Given the description of an element on the screen output the (x, y) to click on. 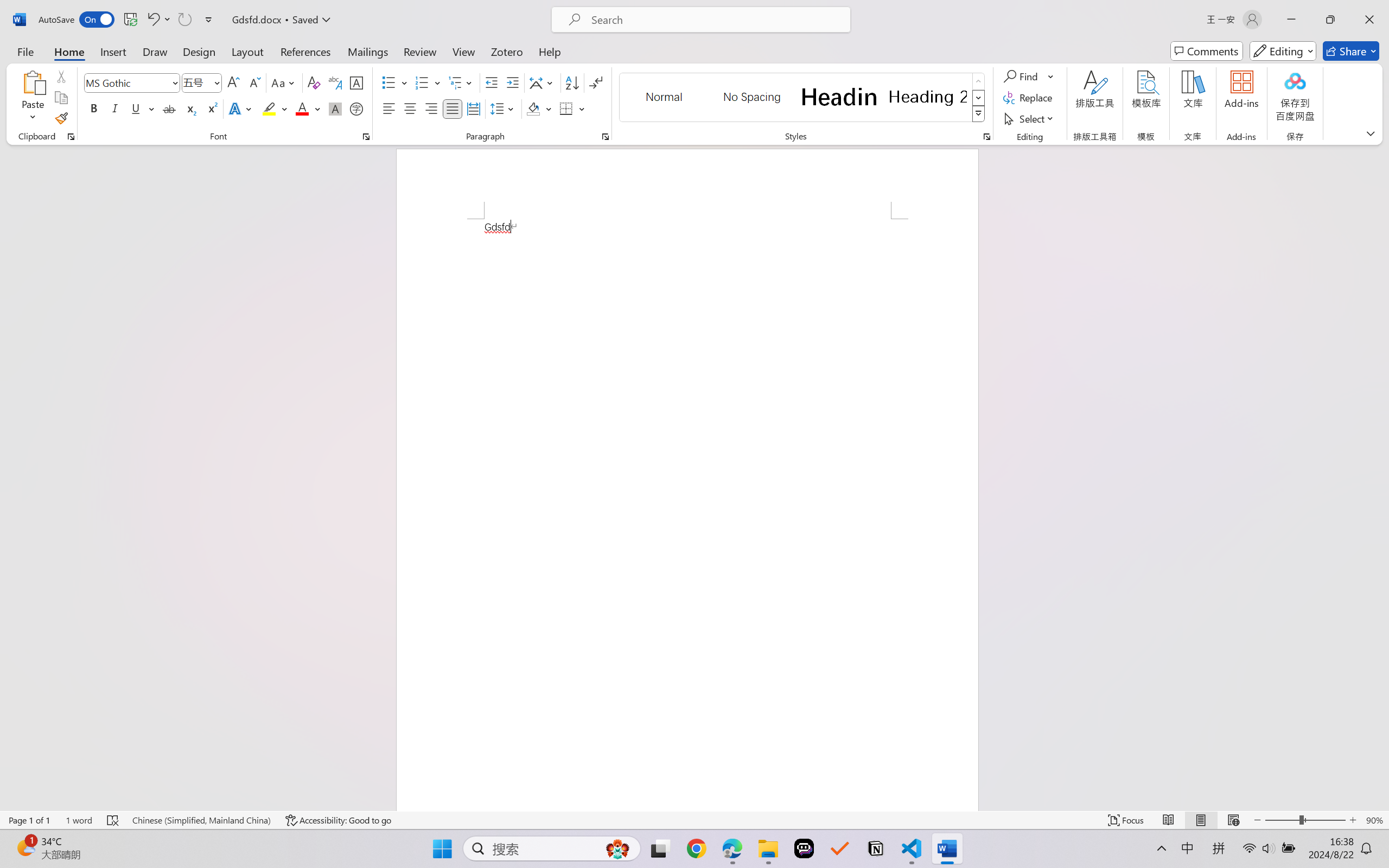
Spelling and Grammar Check Errors (113, 819)
Select (1030, 118)
Asian Layout (542, 82)
Styles... (986, 136)
